Given the description of an element on the screen output the (x, y) to click on. 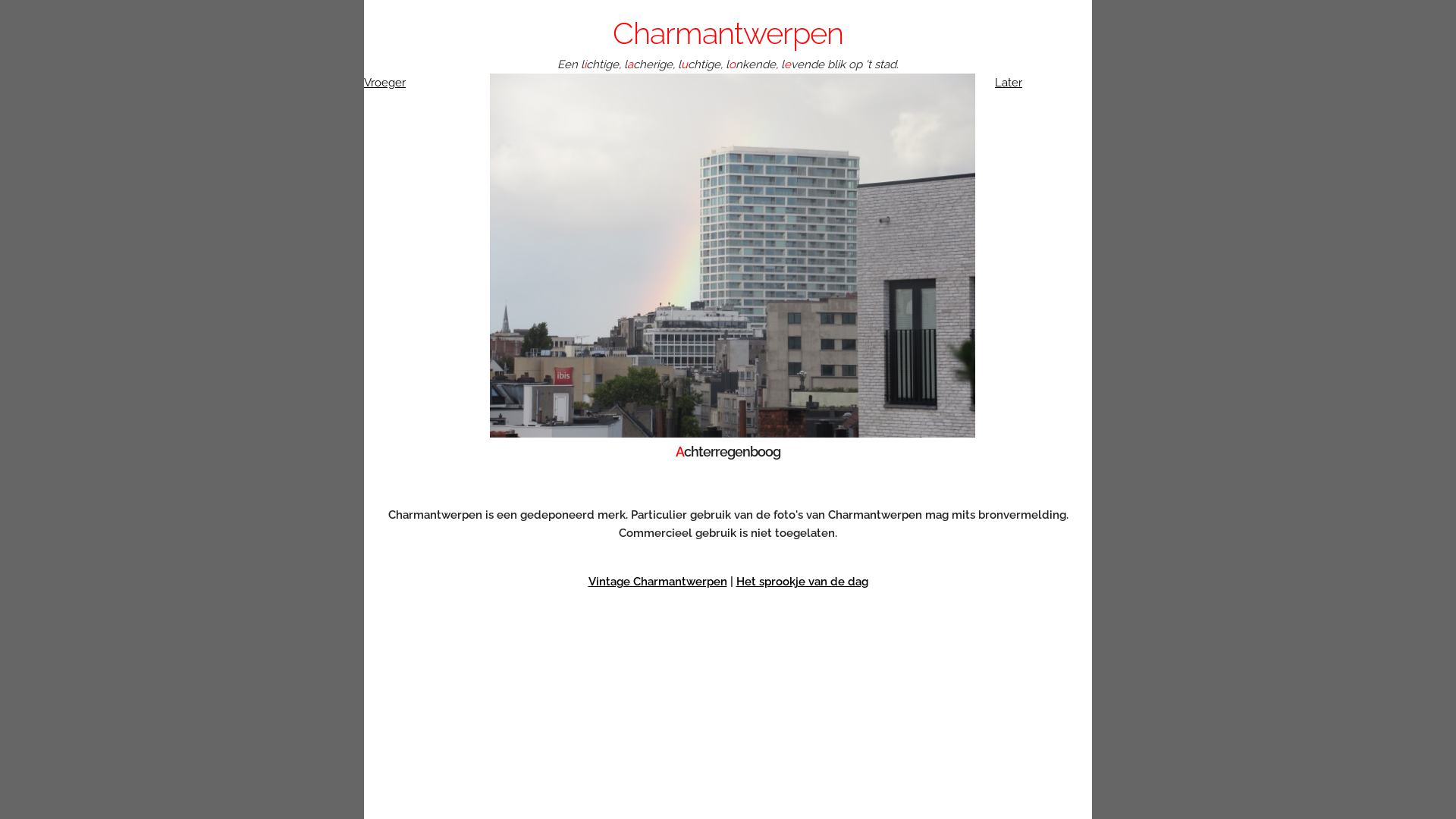
Het sprookje van de dag Element type: text (801, 581)
Charmantwerpen Element type: text (727, 32)
Vintage Charmantwerpen Element type: text (657, 581)
Vroeger Element type: text (384, 82)
Later Element type: text (1008, 82)
